Given the description of an element on the screen output the (x, y) to click on. 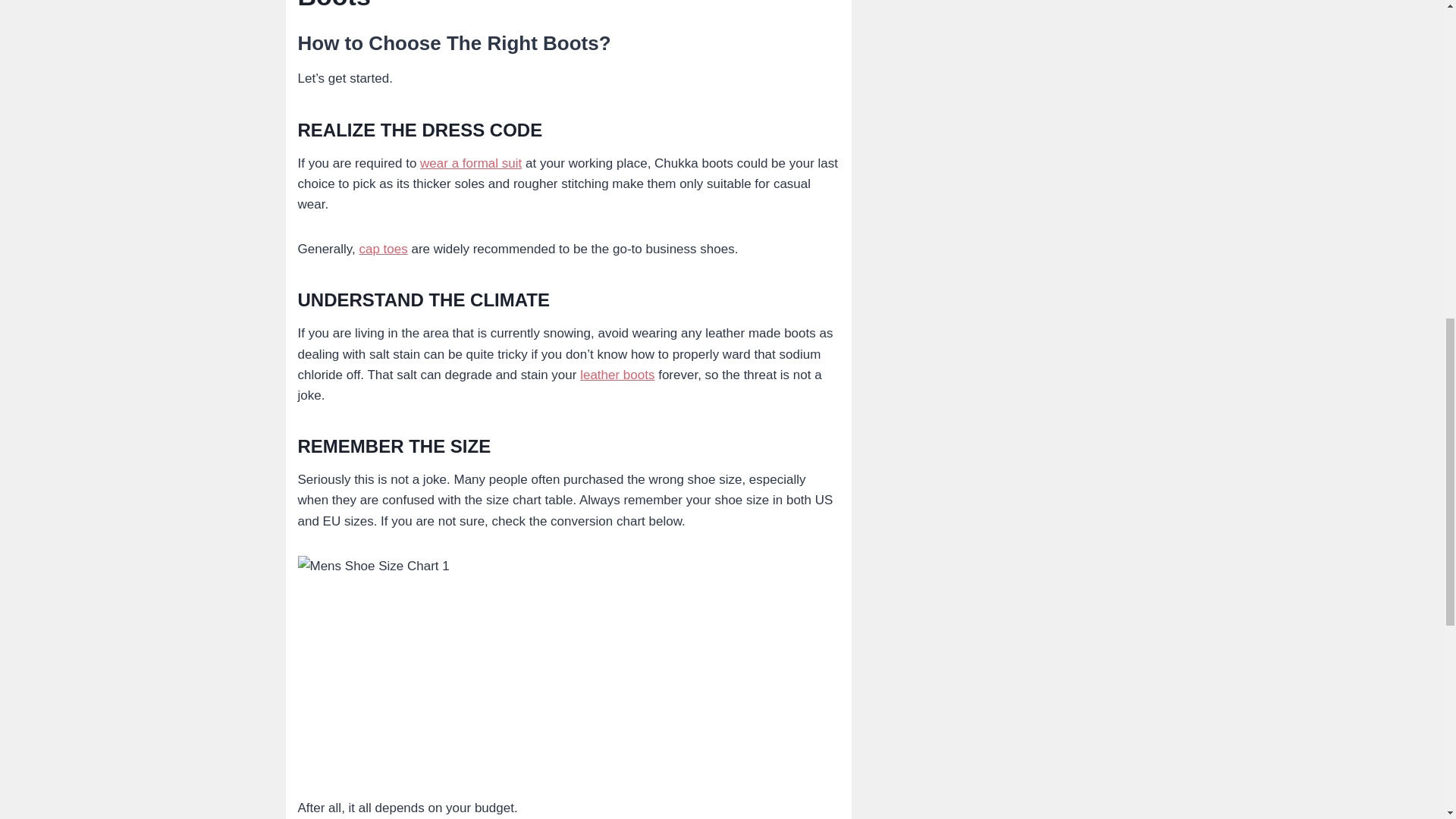
leather boots (616, 374)
wear a formal suit (470, 163)
cap toes (382, 248)
